Given the description of an element on the screen output the (x, y) to click on. 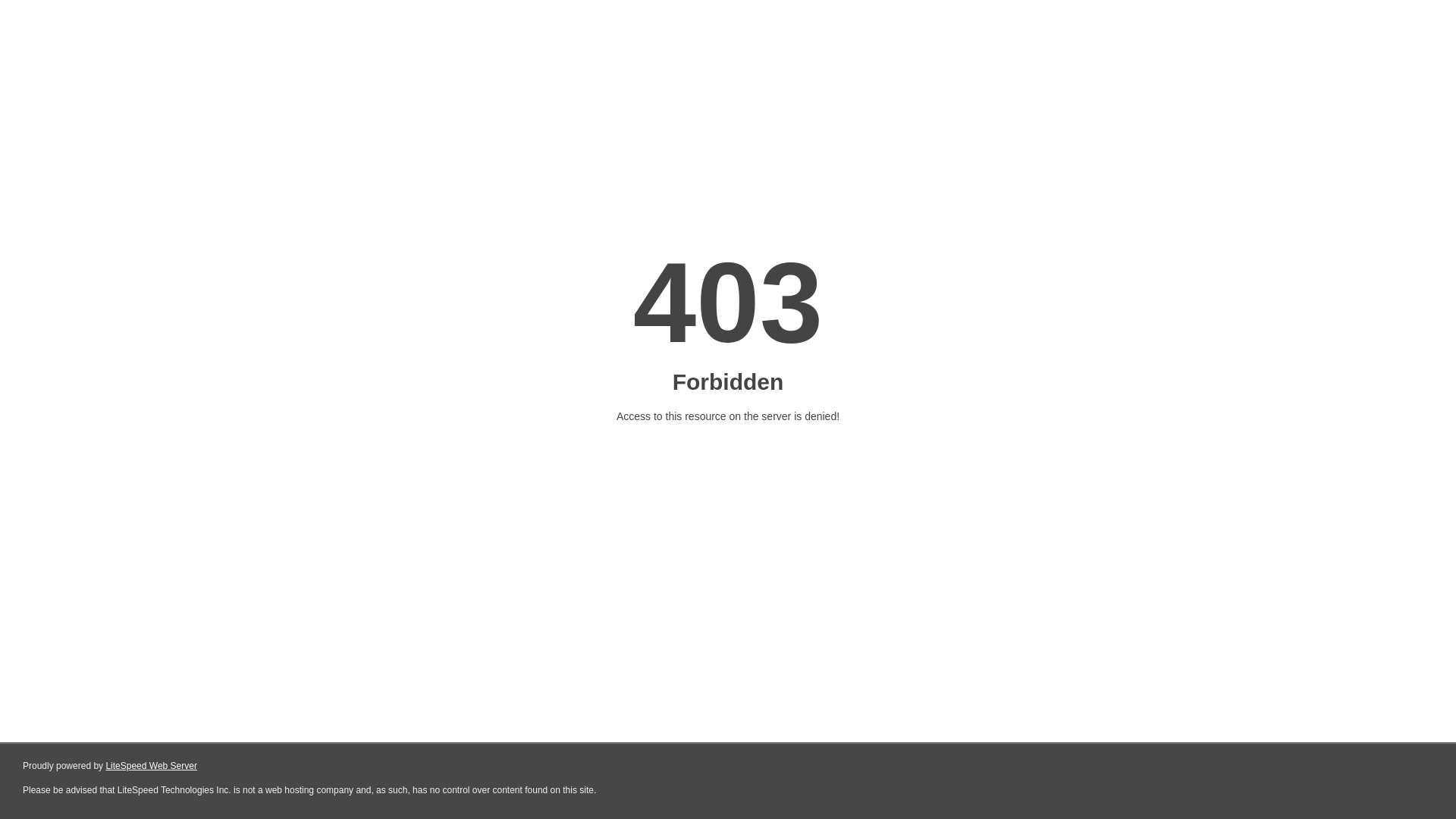
LiteSpeed Web Server Element type: text (151, 765)
